Given the description of an element on the screen output the (x, y) to click on. 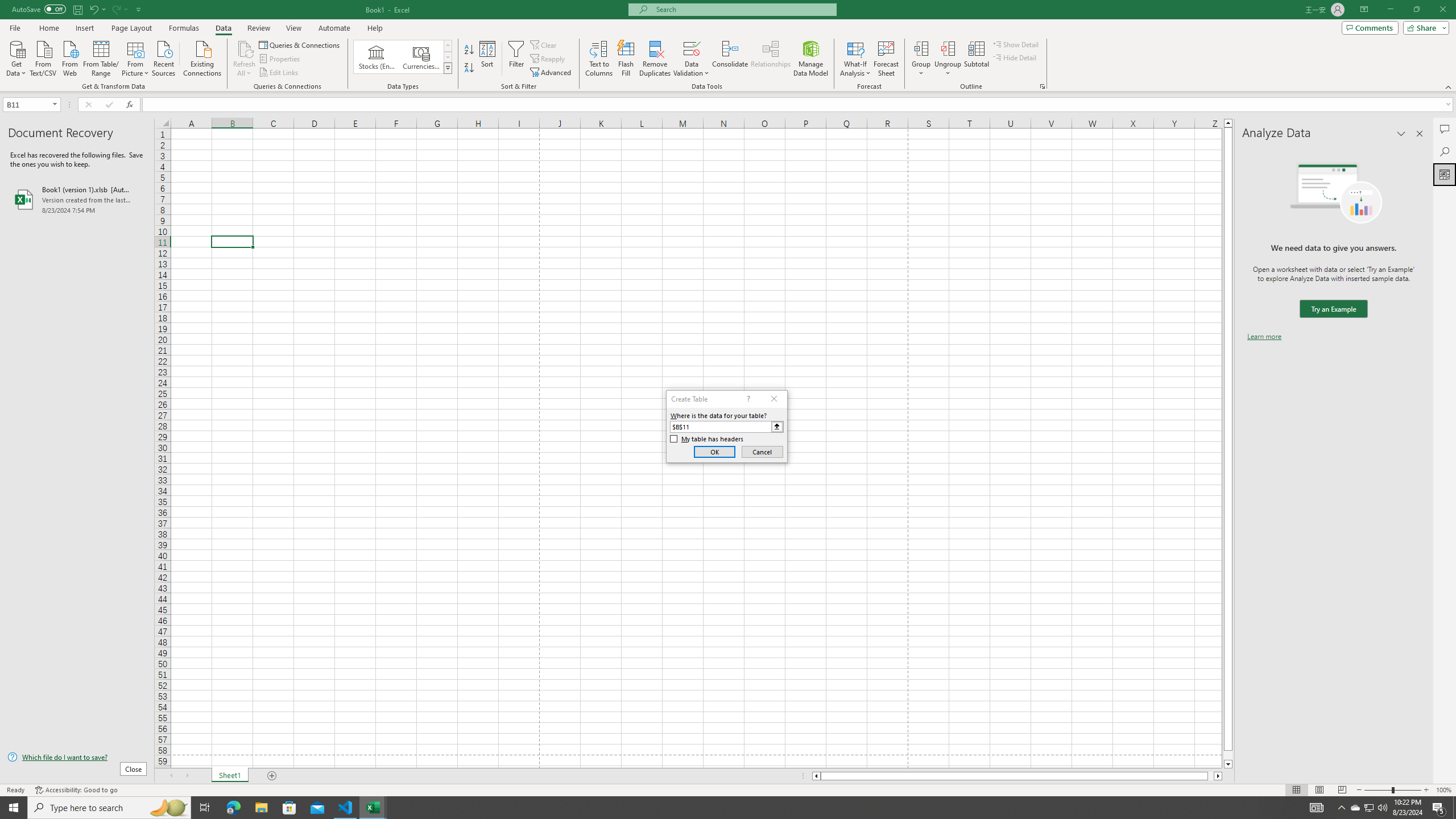
From Web (69, 57)
Refresh All (244, 48)
Zoom In (1426, 790)
From Text/CSV (43, 57)
Show Detail (1016, 44)
Zoom Out (1377, 790)
Flash Fill (625, 58)
Accessibility Checker Accessibility: Good to go (76, 790)
File Tab (15, 27)
Customize Quick Access Toolbar (139, 9)
Data Validation... (691, 48)
Recent Sources (163, 57)
Minimize (1390, 9)
Page Break Preview (1342, 790)
What-If Analysis (855, 58)
